Given the description of an element on the screen output the (x, y) to click on. 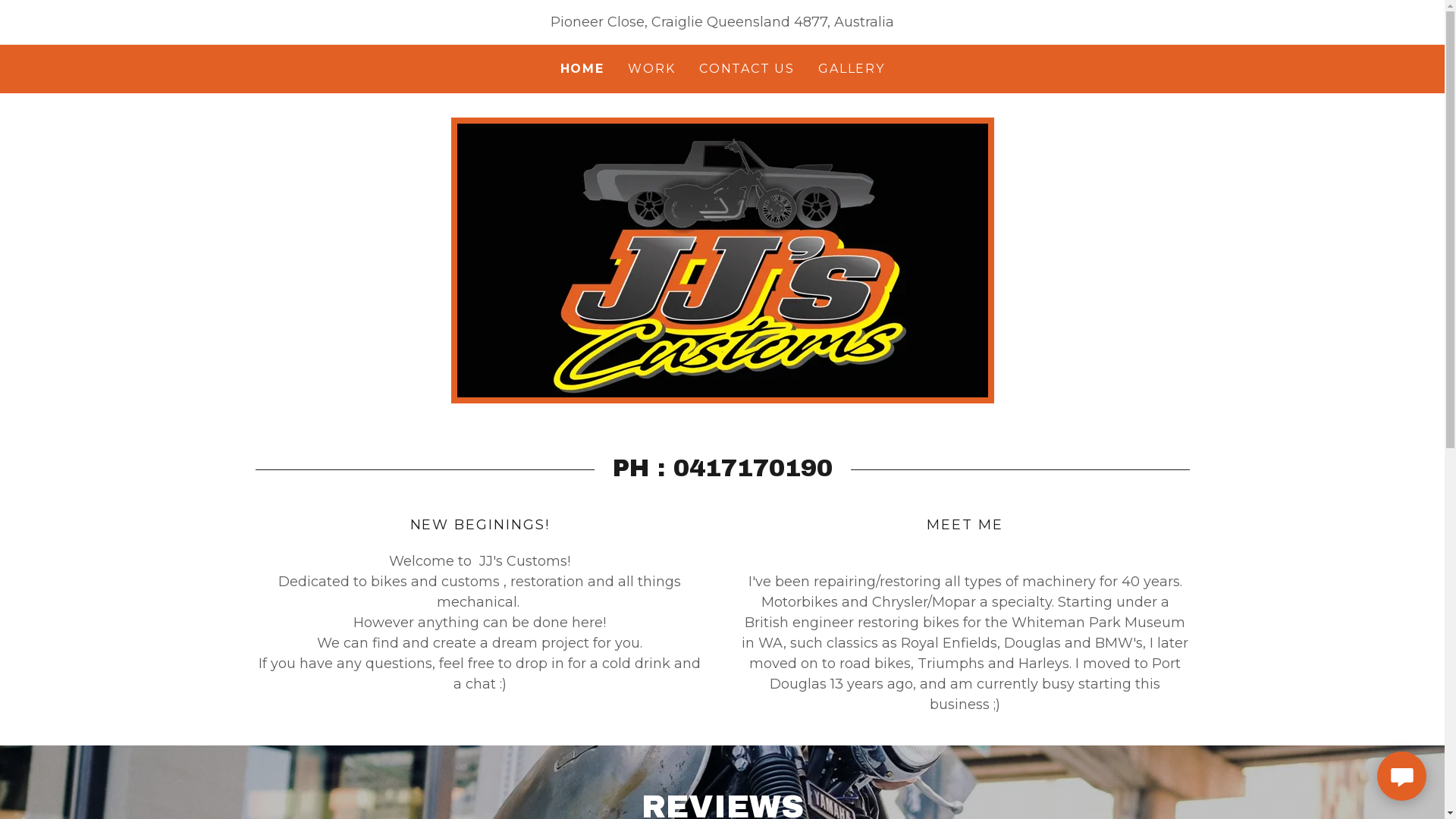
WORK Element type: text (651, 68)
CONTACT US Element type: text (746, 68)
HOME Element type: text (582, 68)
GALLERY Element type: text (850, 68)
